Given the description of an element on the screen output the (x, y) to click on. 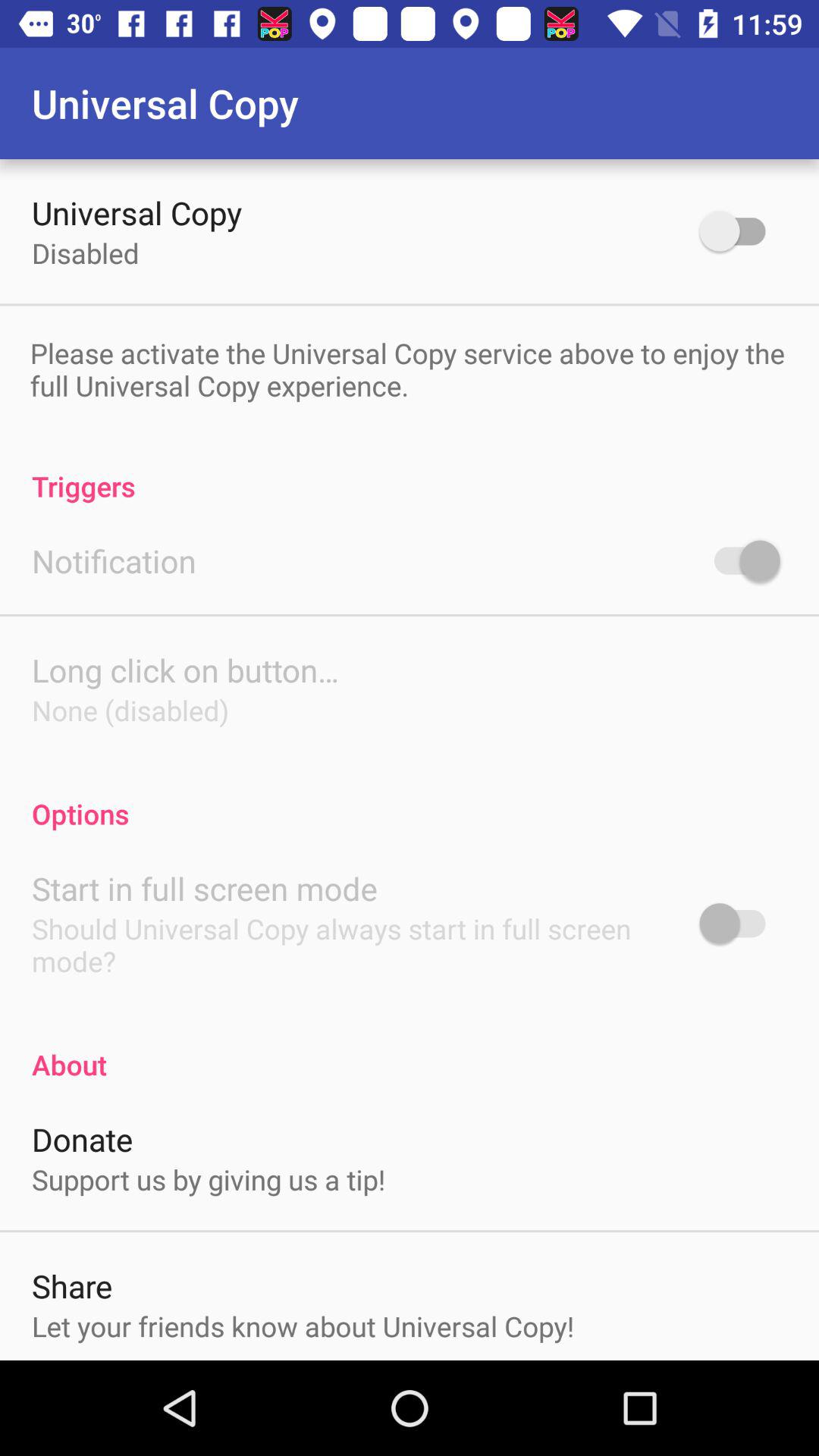
toggle notifications (739, 560)
